Given the description of an element on the screen output the (x, y) to click on. 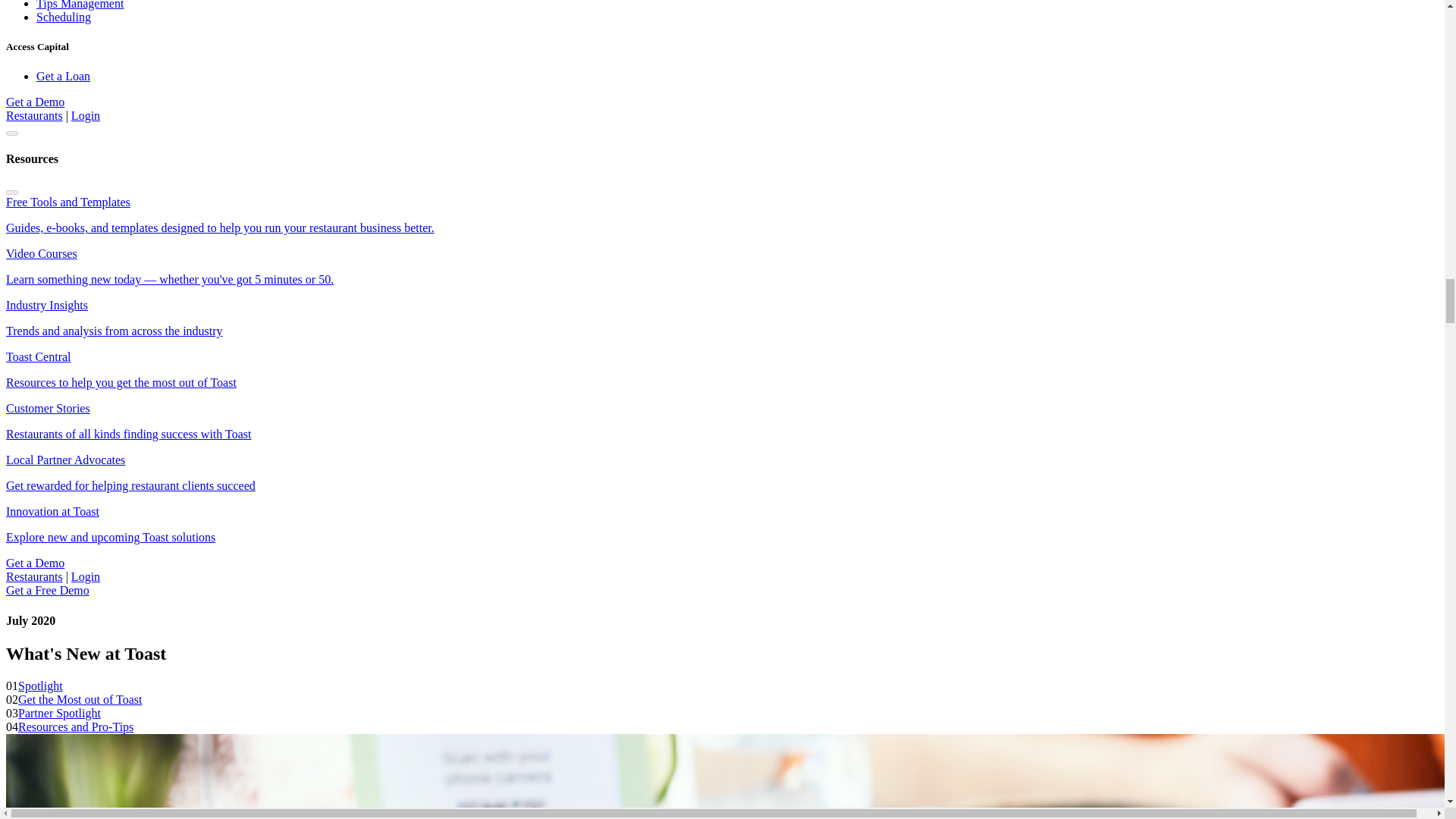
Partner Spotlight (58, 712)
Get the Most out of Toast (79, 698)
Spotlight (39, 685)
Resources and Pro-Tips (75, 726)
